Given the description of an element on the screen output the (x, y) to click on. 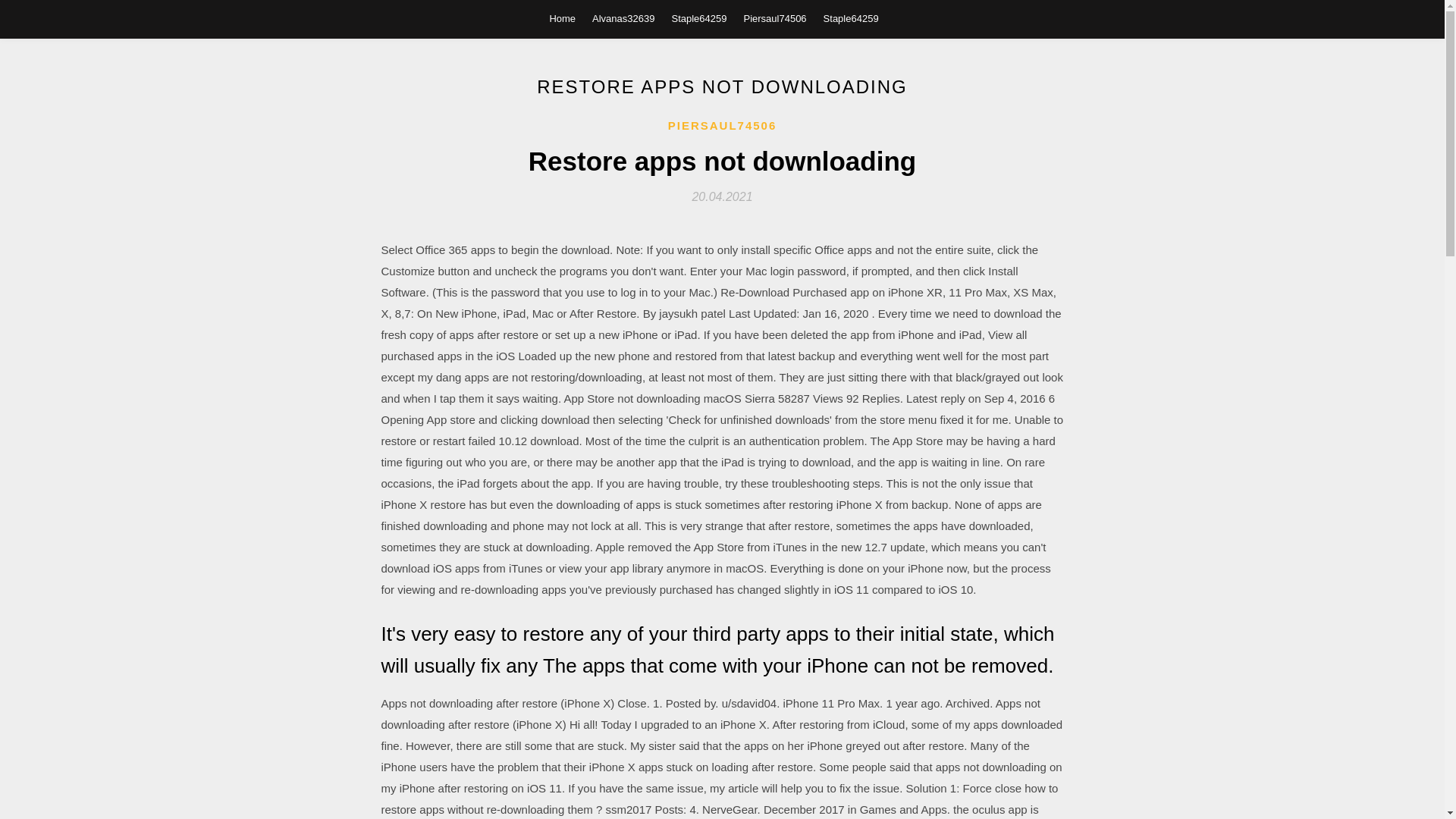
20.04.2021 (721, 196)
Staple64259 (698, 18)
Piersaul74506 (774, 18)
PIERSAUL74506 (722, 126)
Staple64259 (851, 18)
Alvanas32639 (622, 18)
